Given the description of an element on the screen output the (x, y) to click on. 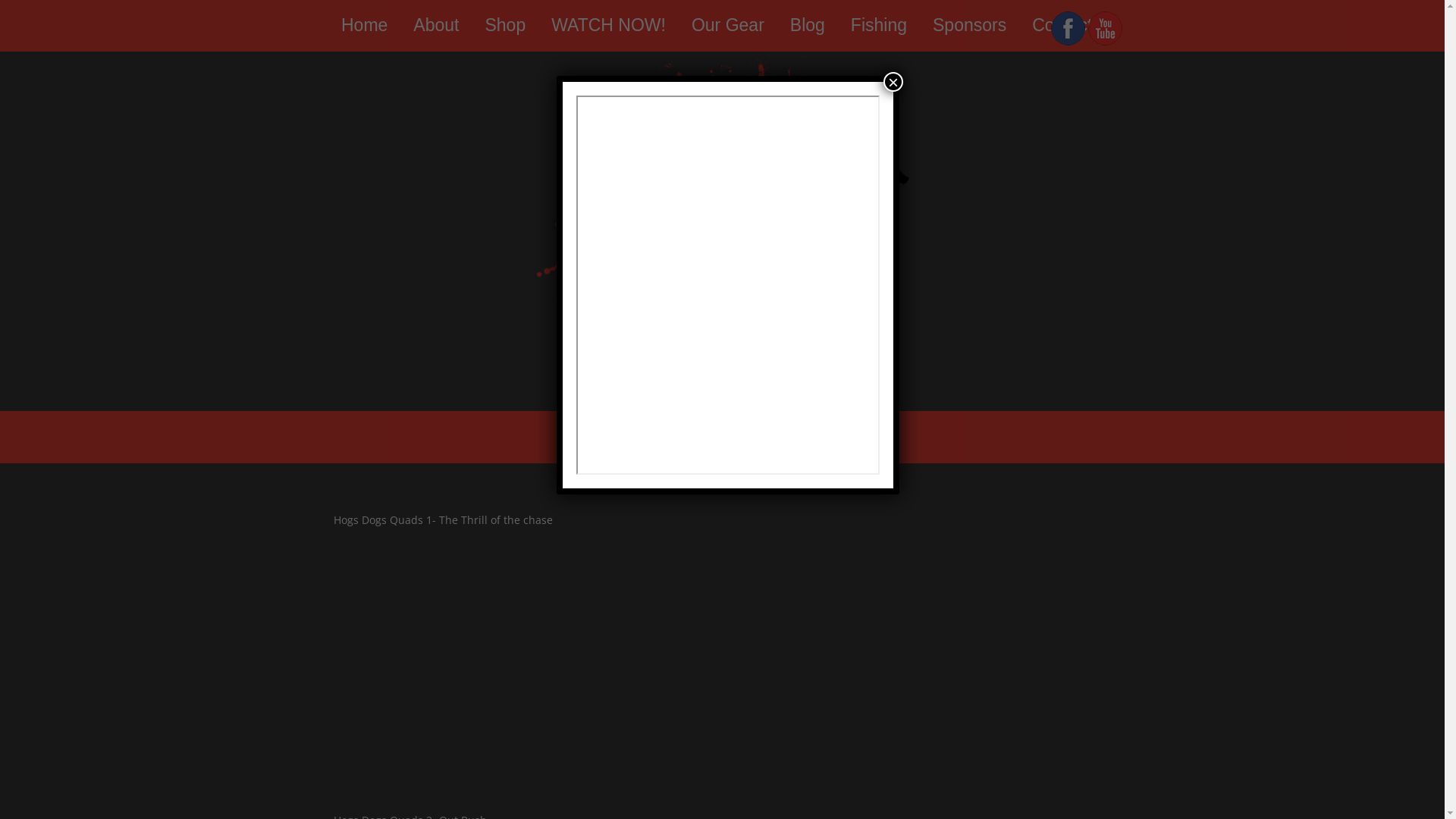
Home Element type: text (364, 24)
About Element type: text (435, 24)
Our Gear Element type: text (727, 24)
Sponsors Element type: text (969, 24)
Blog Element type: text (807, 24)
Hogs Dogs and Quads Element type: hover (721, 232)
Contact Element type: text (1062, 24)
WATCH NOW! Element type: text (608, 24)
Fishing Element type: text (878, 24)
Watch us on YouTube Element type: hover (1105, 40)
Like us on Facebook Element type: hover (1068, 40)
Shop Element type: text (504, 24)
